Given the description of an element on the screen output the (x, y) to click on. 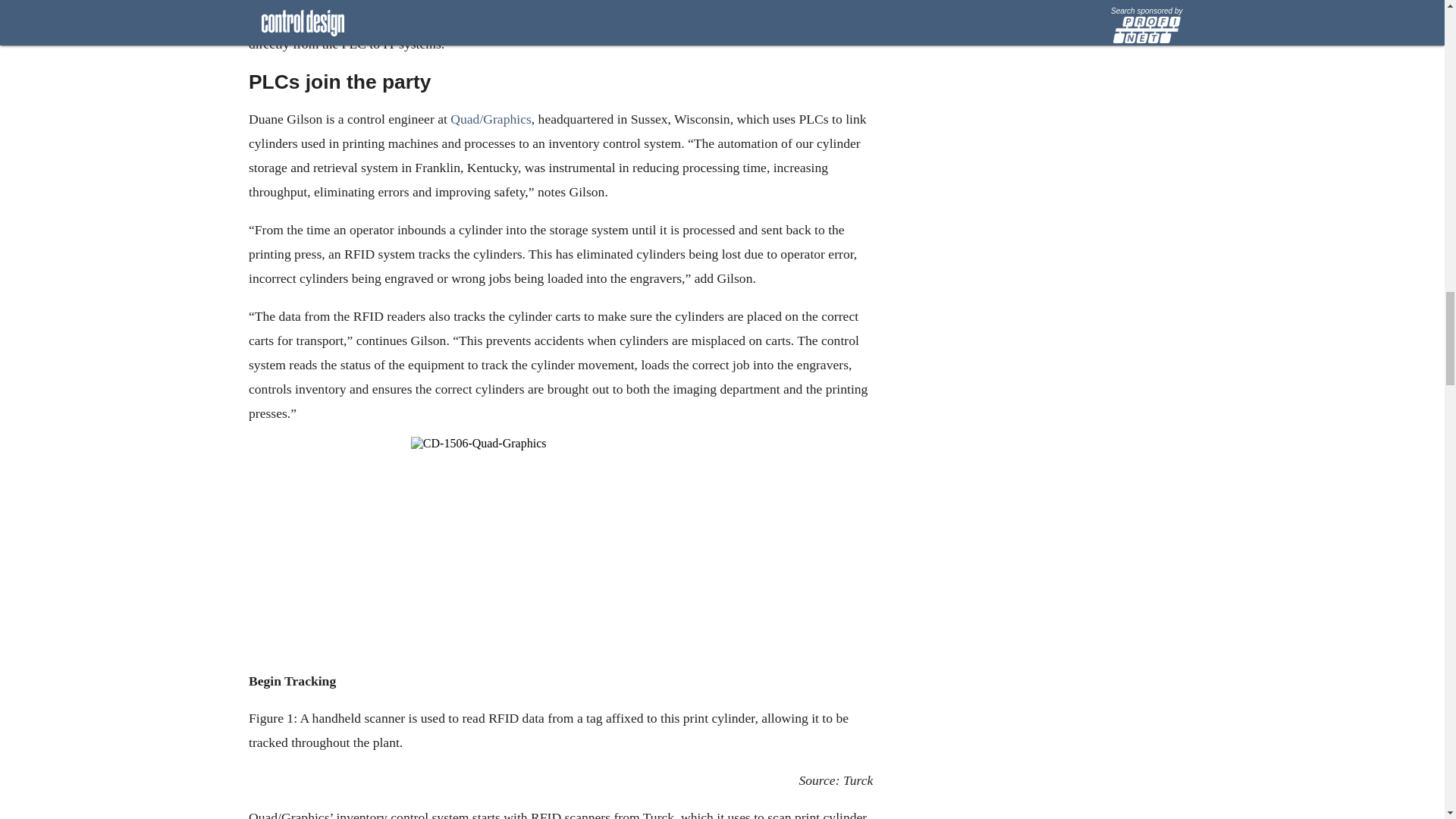
CD-1506-Quad-Graphics (560, 549)
